Given the description of an element on the screen output the (x, y) to click on. 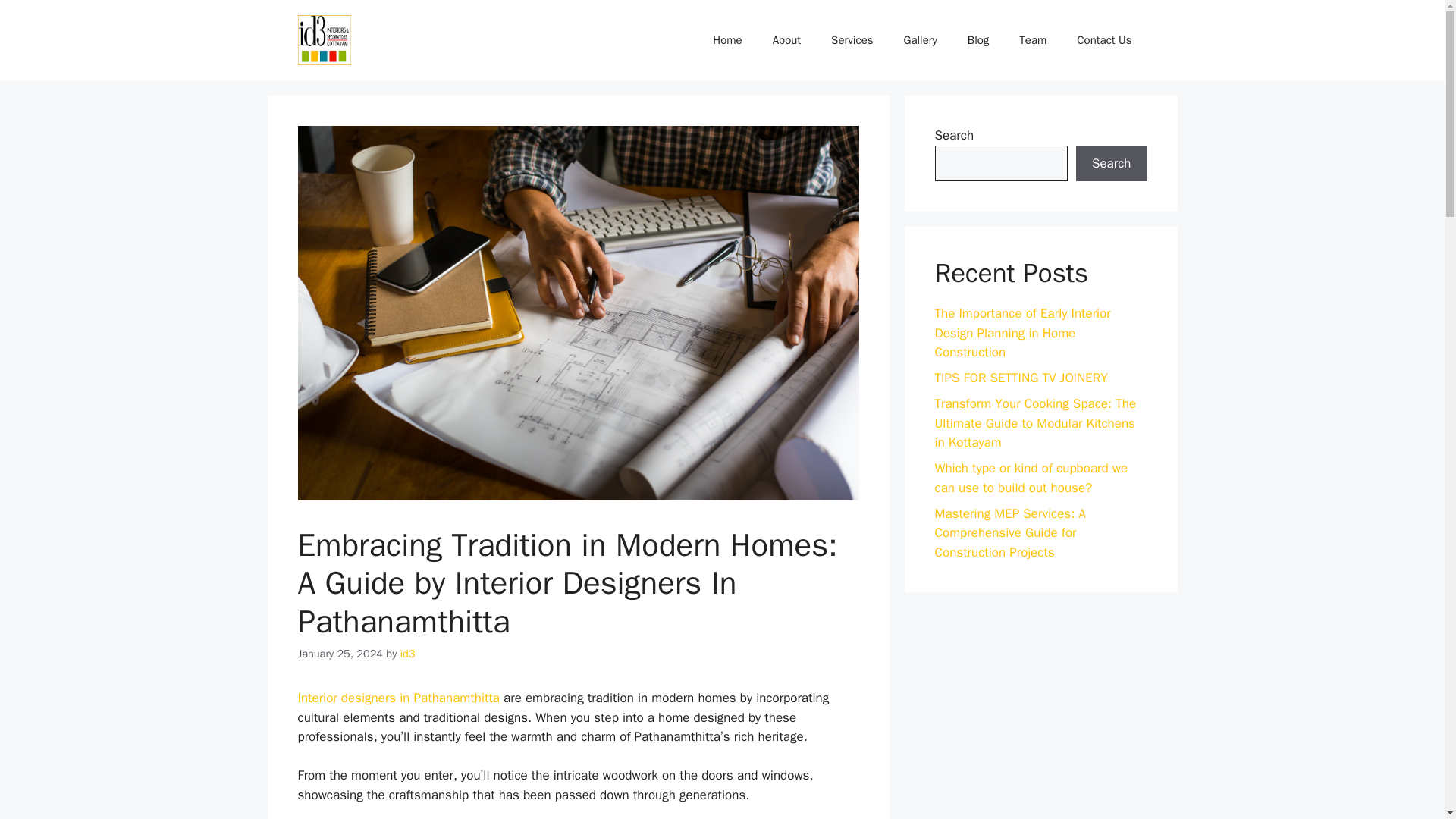
About (786, 40)
View all posts by id3 (407, 653)
TIPS FOR SETTING TV JOINERY (1020, 377)
Gallery (920, 40)
Team (1032, 40)
Contact Us (1104, 40)
Blog (978, 40)
Interior designers in Pathanamthitta (398, 697)
